Given the description of an element on the screen output the (x, y) to click on. 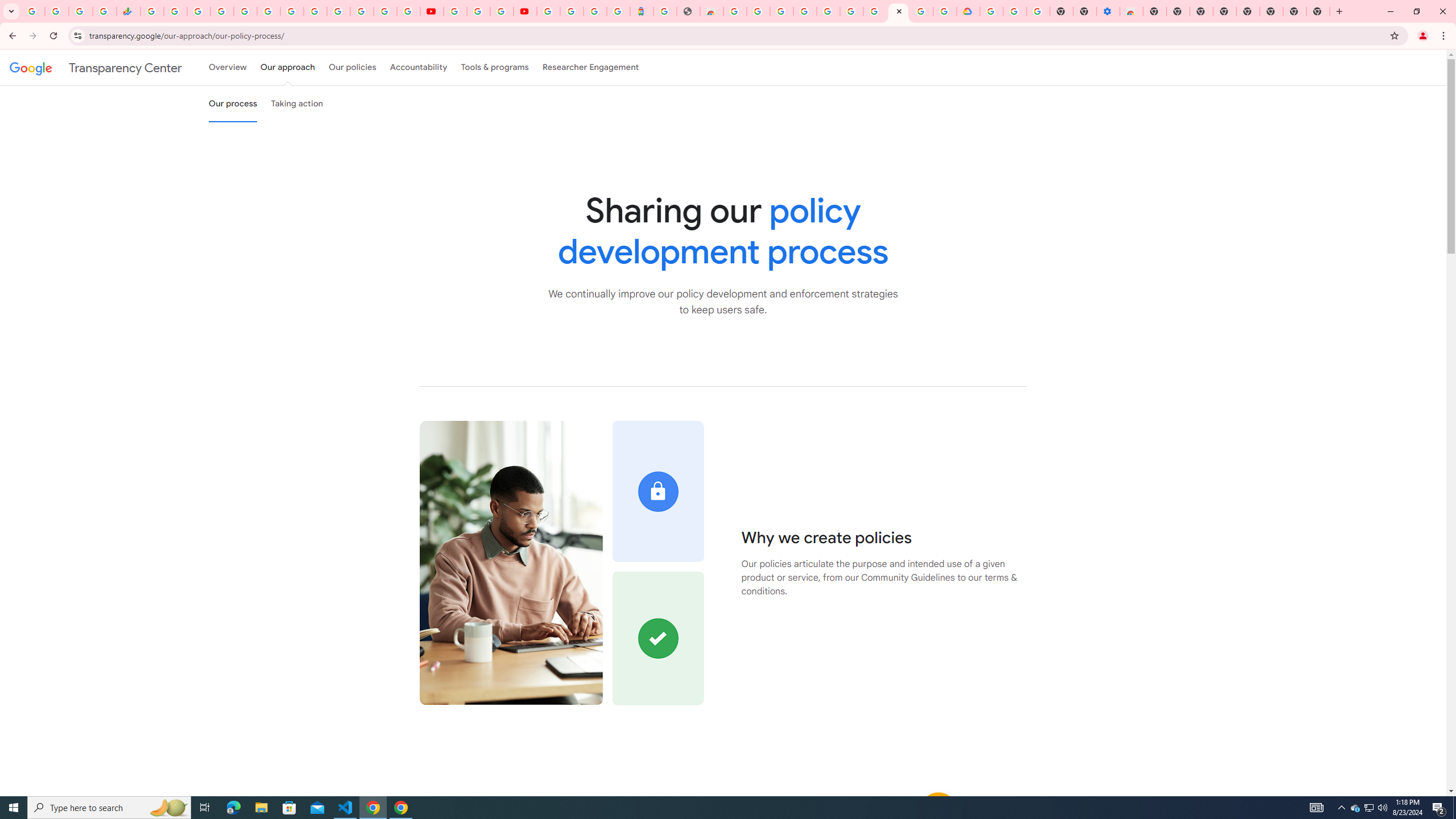
New Tab (1318, 11)
Sign in - Google Accounts (992, 11)
Accountability (418, 67)
Chrome Web Store - Accessibility extensions (1131, 11)
Google Account Help (478, 11)
